Given the description of an element on the screen output the (x, y) to click on. 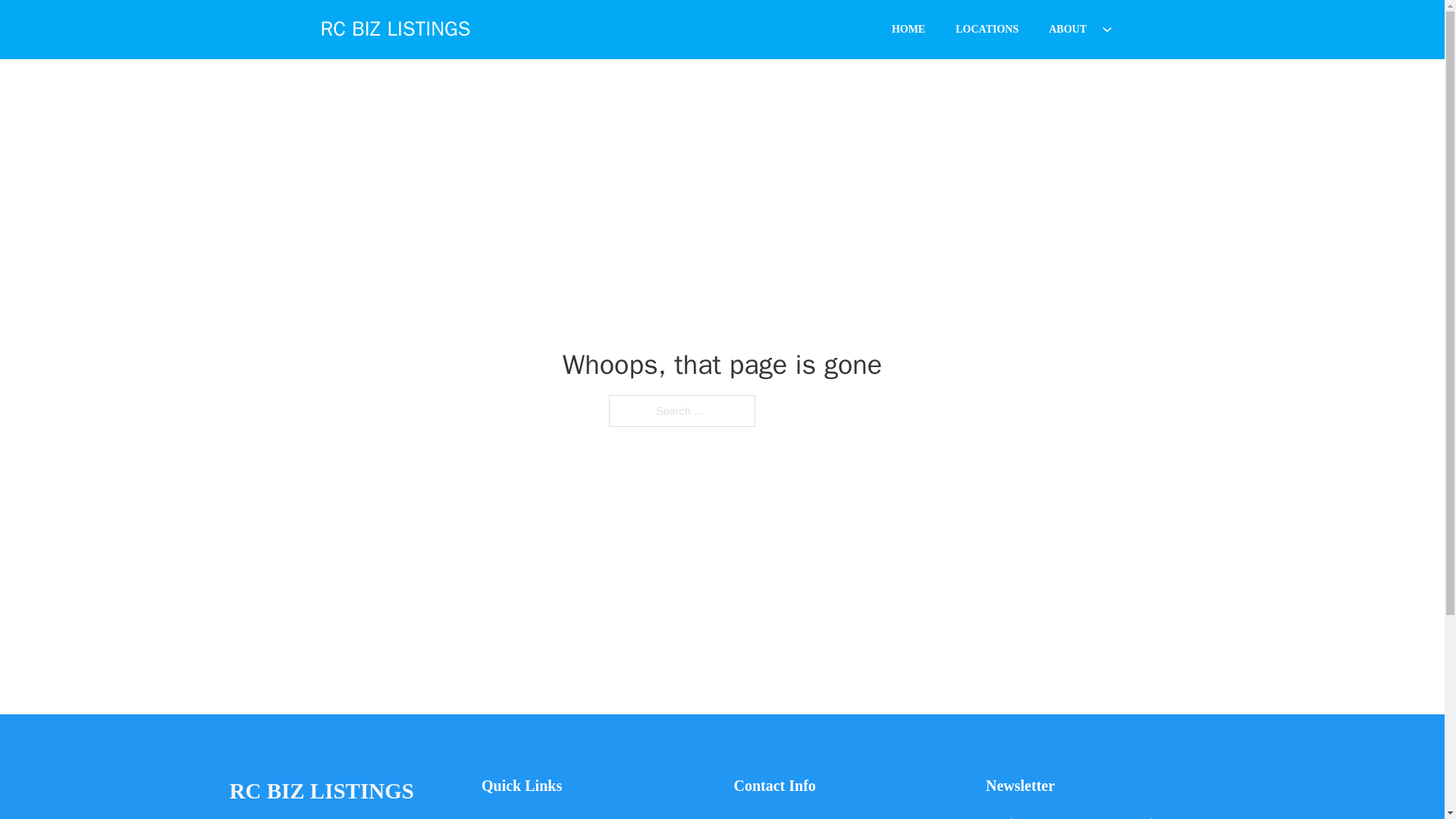
HOME (908, 29)
Home (496, 816)
LOCATIONS (987, 29)
RC BIZ LISTINGS (395, 28)
RC BIZ LISTINGS (320, 791)
